Given the description of an element on the screen output the (x, y) to click on. 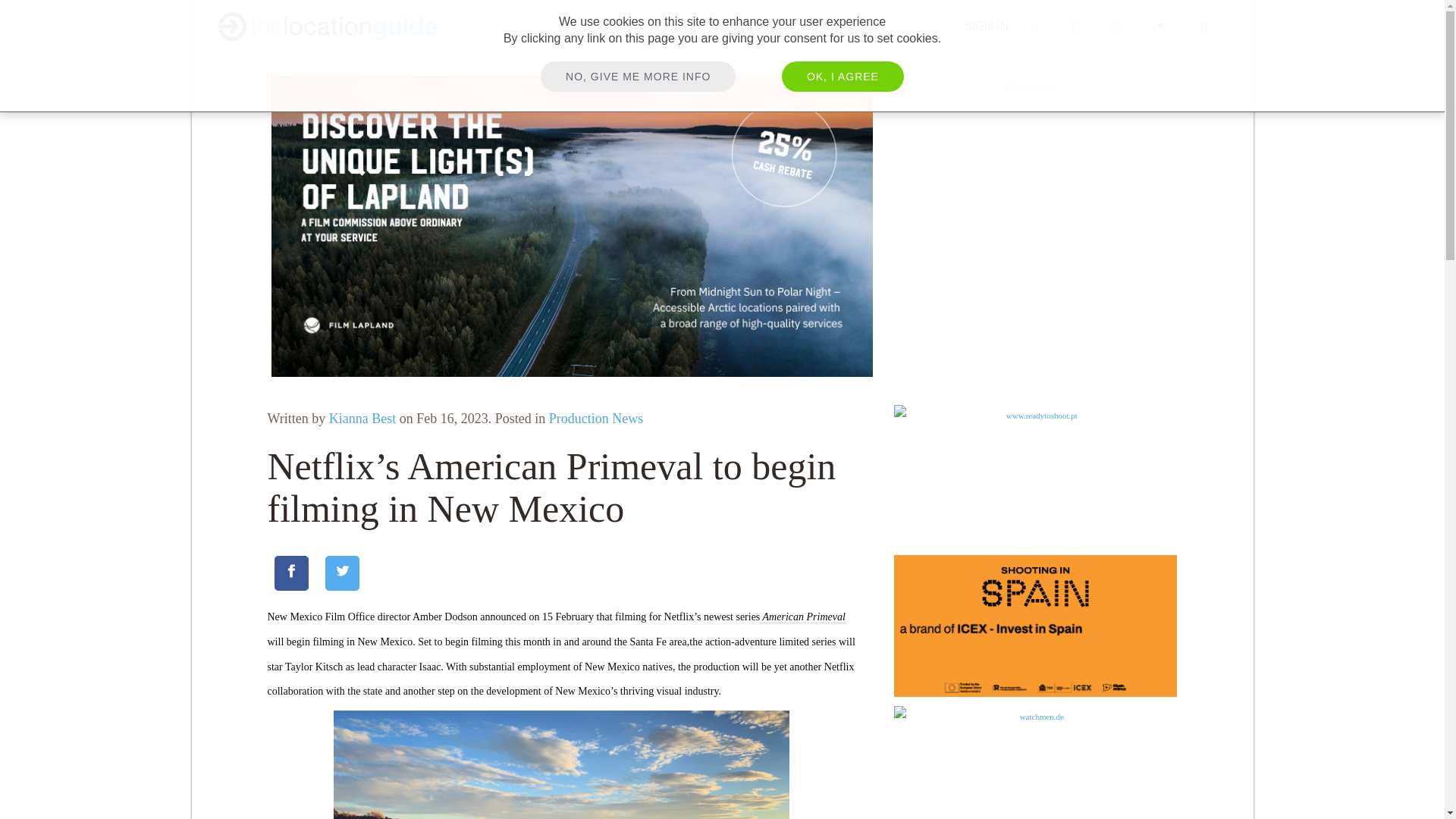
watchmen.de (1034, 762)
OK, I AGREE (842, 76)
SIGN IN (986, 26)
NO, GIVE ME MORE INFO (637, 76)
Kianna Best (362, 418)
Shooting in Spain (1034, 625)
Kianna Best (362, 418)
